Given the description of an element on the screen output the (x, y) to click on. 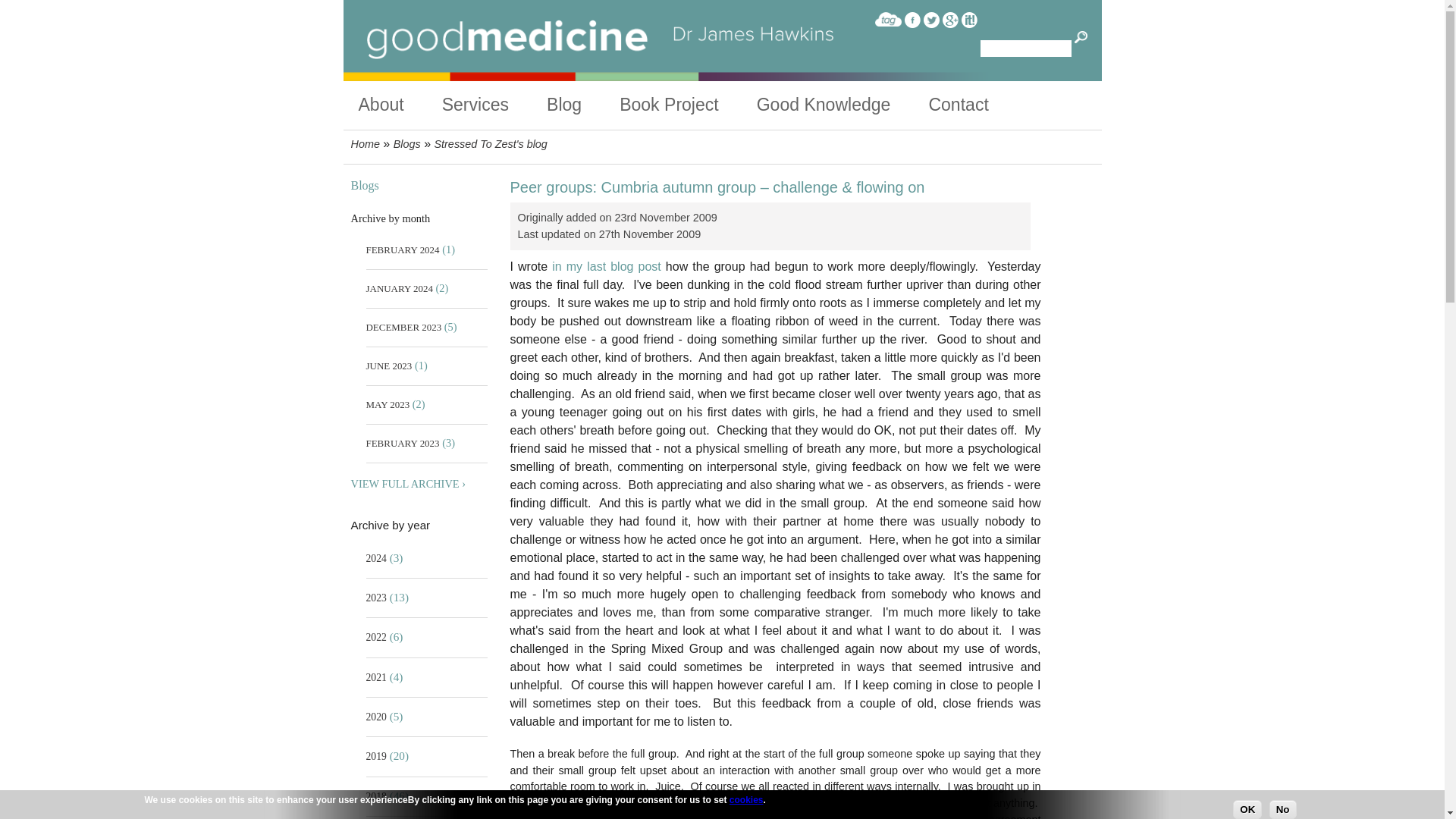
About (399, 104)
Good Knowledge (842, 104)
Blog (583, 104)
background information (399, 104)
Enter the terms you wish to search for. (1024, 48)
Search (1081, 38)
Services (494, 104)
Book Project (688, 104)
dr hawkins' blog (583, 104)
clinic details (494, 104)
Search (1081, 38)
